Given the description of an element on the screen output the (x, y) to click on. 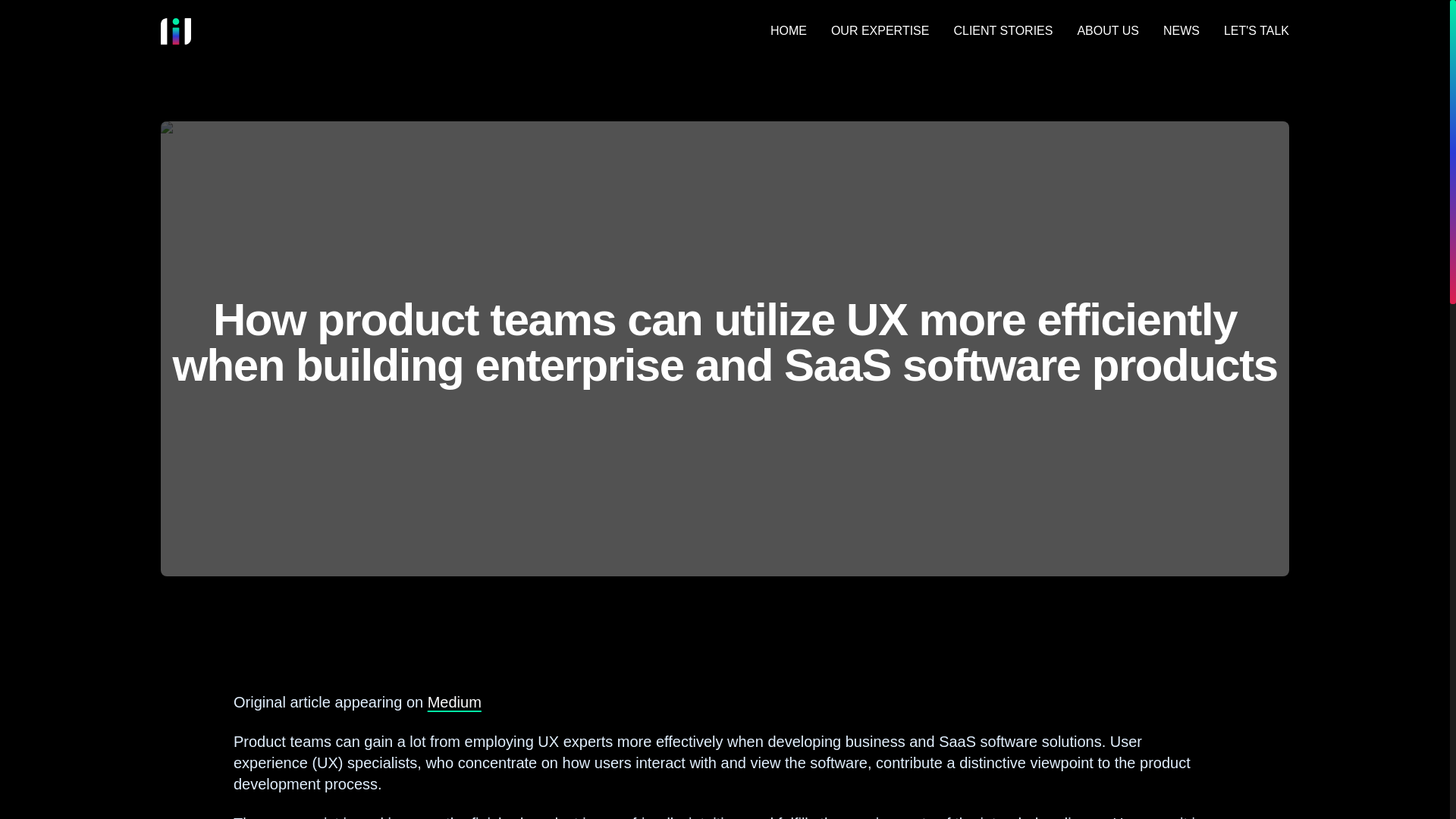
Medium (454, 701)
CLIENT STORIES (1002, 31)
NEWS (1181, 31)
OUR EXPERTISE (880, 31)
HOME (788, 31)
LET'S TALK (1256, 31)
ABOUT US (1107, 31)
